Given the description of an element on the screen output the (x, y) to click on. 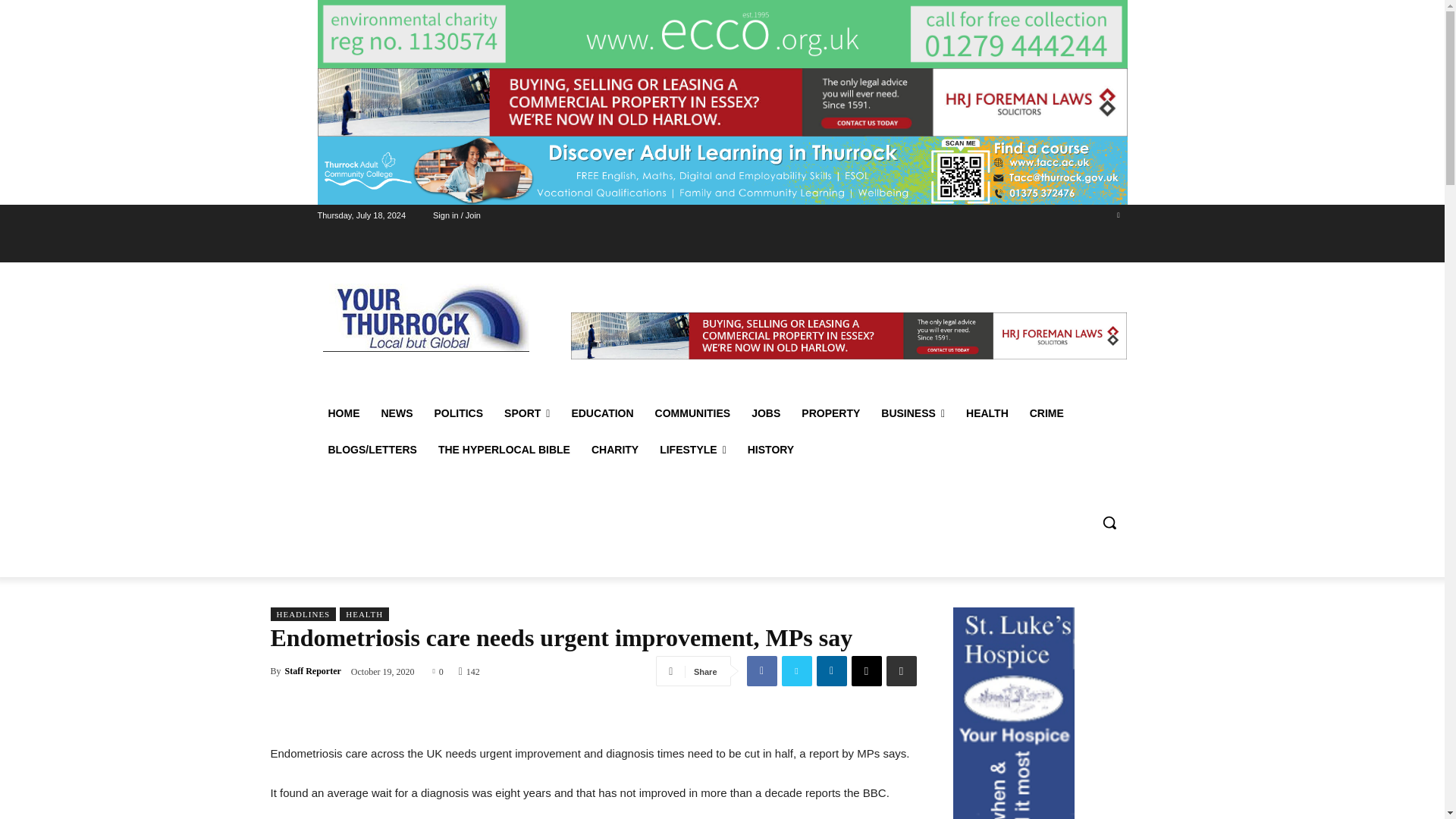
Linkedin (830, 671)
Twitter (1117, 215)
Twitter (795, 671)
Print (900, 671)
Email (865, 671)
Facebook (760, 671)
